Given the description of an element on the screen output the (x, y) to click on. 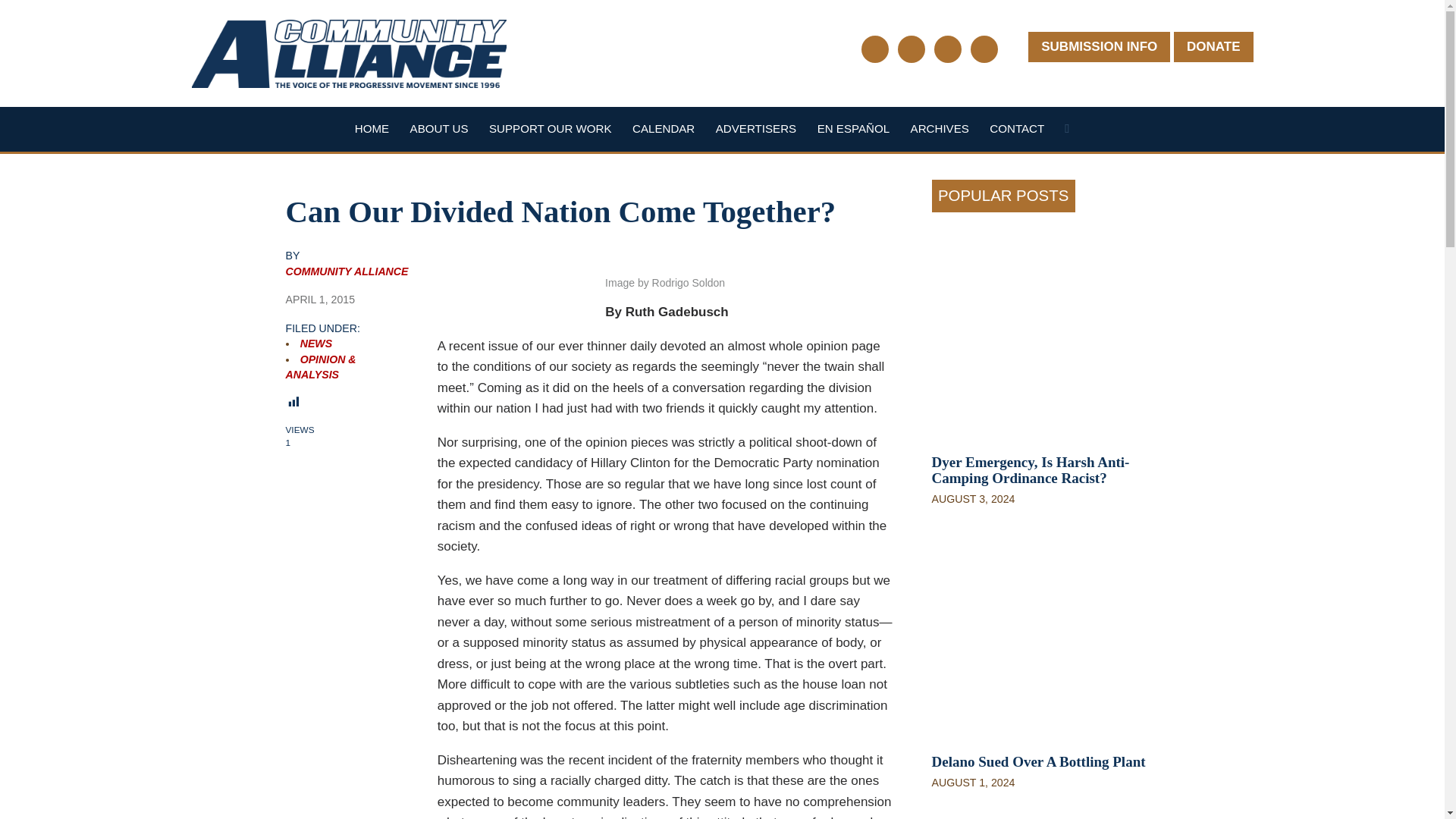
CALENDAR (662, 128)
ARCHIVES (940, 128)
Search (1066, 132)
Community Alliance (346, 271)
SUBMISSION INFO (1098, 47)
ADVERTISERS (756, 128)
Search (1066, 132)
HOME (371, 128)
CONTACT (1016, 128)
ABOUT US (439, 128)
